Given the description of an element on the screen output the (x, y) to click on. 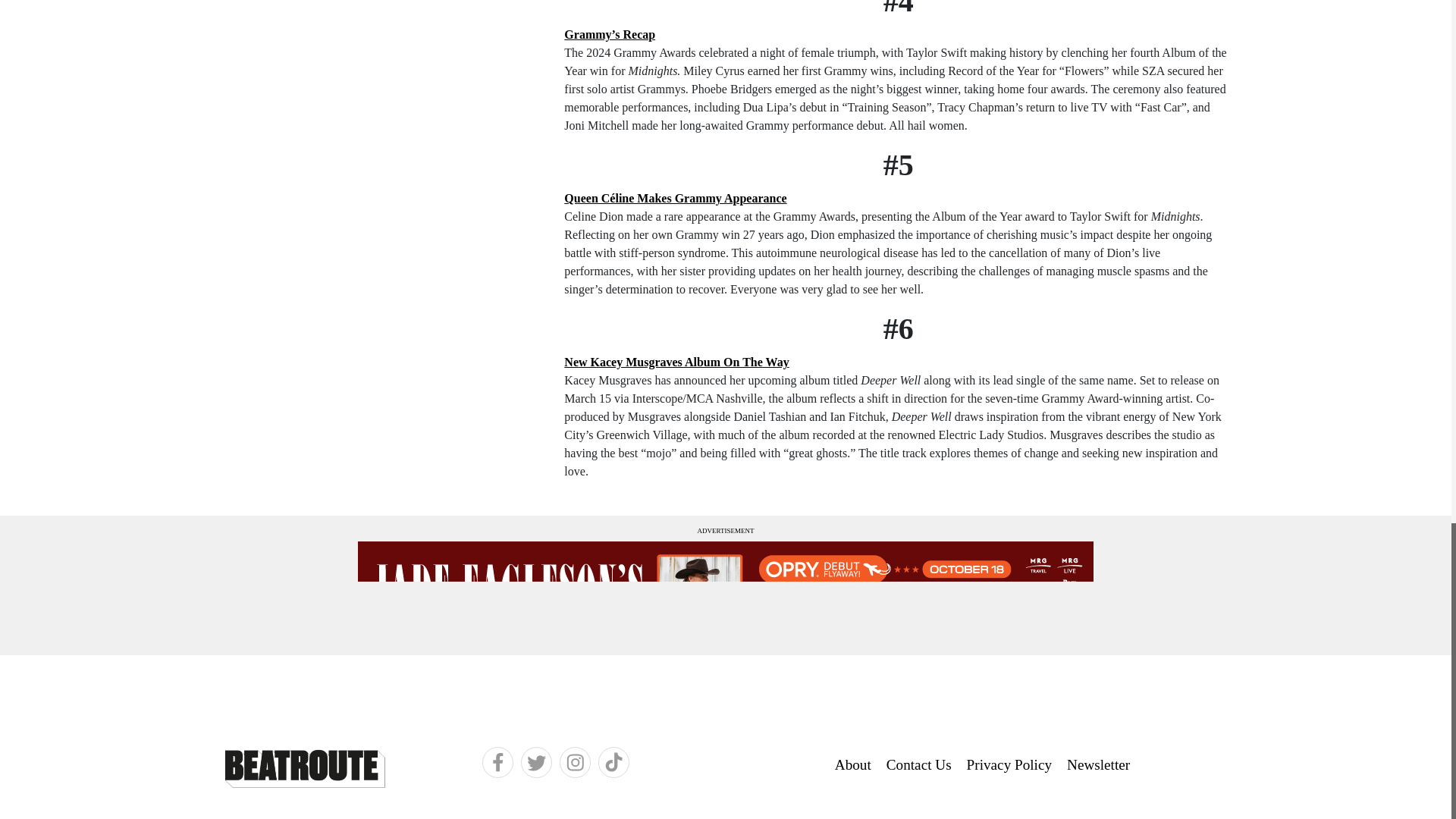
Privacy Policy (1008, 766)
New Kacey Musgraves Album On The Way (676, 361)
Newsletter (1098, 766)
Contact Us (918, 766)
About (853, 766)
